Given the description of an element on the screen output the (x, y) to click on. 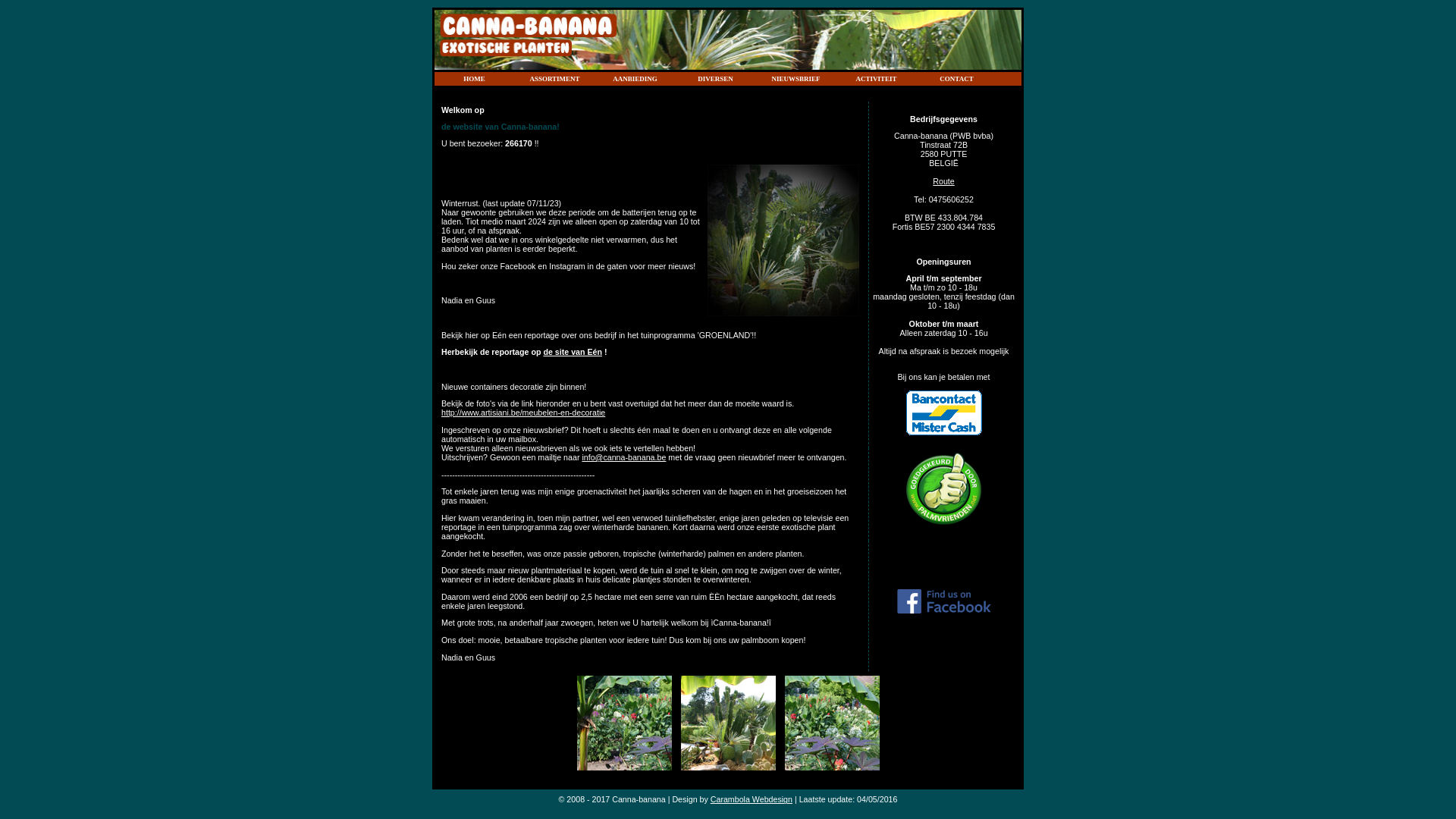
http://www.artisiani.be/meubelen-en-decoratie Element type: text (523, 412)
DIVERSEN Element type: text (715, 78)
HOME Element type: text (474, 78)
NIEUWSBRIEF Element type: text (795, 78)
CONTACT Element type: text (956, 78)
AANBIEDING Element type: text (634, 78)
Route Element type: text (942, 180)
Carambola Webdesign Element type: text (751, 798)
ACTIVITEIT Element type: text (876, 78)
ASSORTIMENT Element type: text (554, 78)
info@canna-banana.be Element type: text (623, 456)
